Given the description of an element on the screen output the (x, y) to click on. 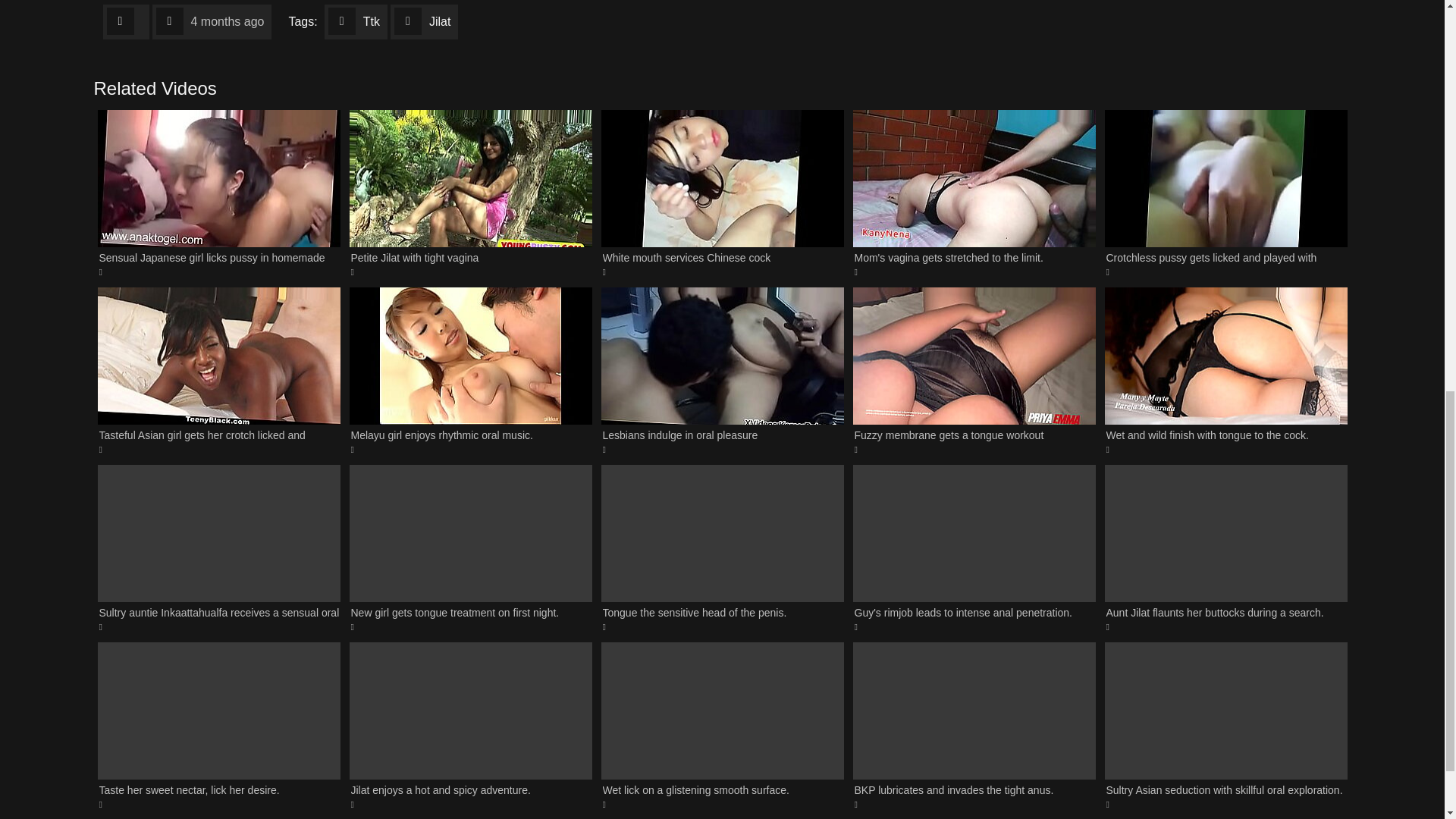
Petite Jilat with tight vagina (470, 192)
Sultry Asian seduction with skillful oral exploration. (1224, 726)
Jilat enjoys a hot and spicy adventure. (470, 726)
Tongue the sensitive head of the penis. (721, 549)
Sensual Japanese girl licks pussy in homemade video. (218, 192)
White mouth services Chinese cock (721, 192)
Melayu girl enjoys rhythmic oral music. (470, 371)
Jilat (424, 21)
Wet and wild finish with tongue to the cock. (1224, 371)
Guy's rimjob leads to intense anal penetration. (972, 549)
